Given the description of an element on the screen output the (x, y) to click on. 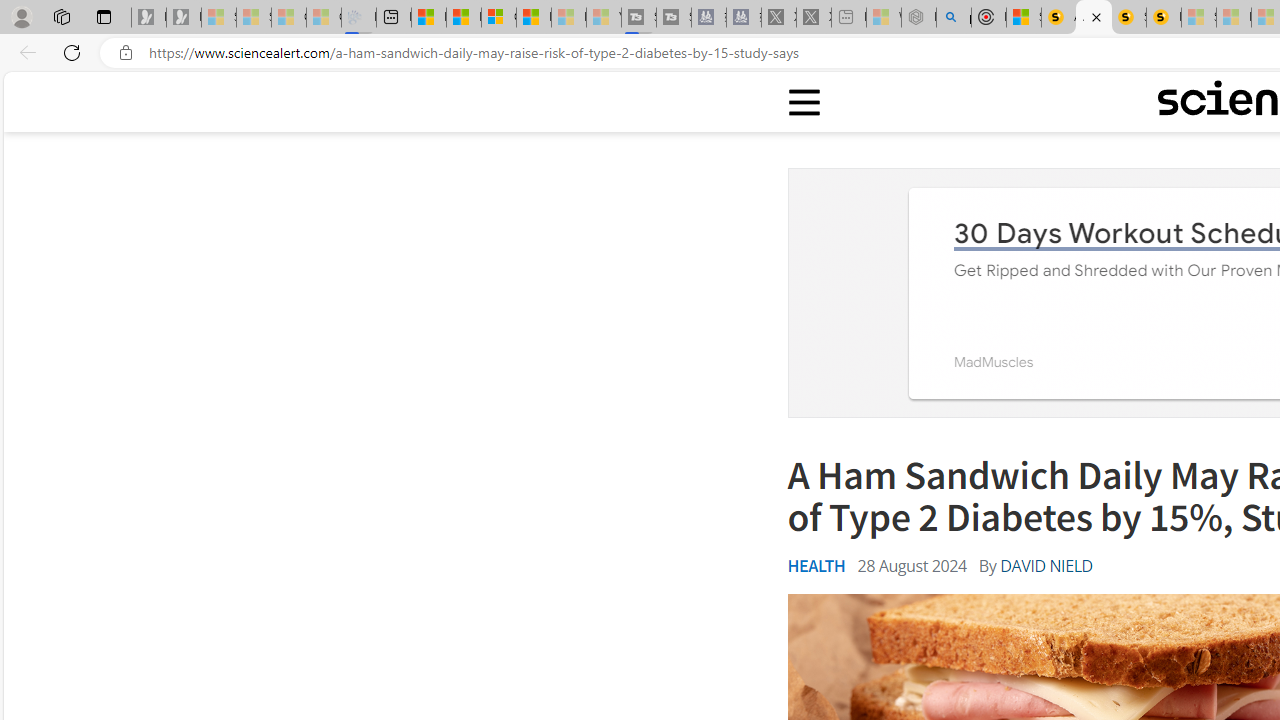
HEALTH (816, 565)
Wildlife - MSN - Sleeping (883, 17)
X - Sleeping (813, 17)
